Given the description of an element on the screen output the (x, y) to click on. 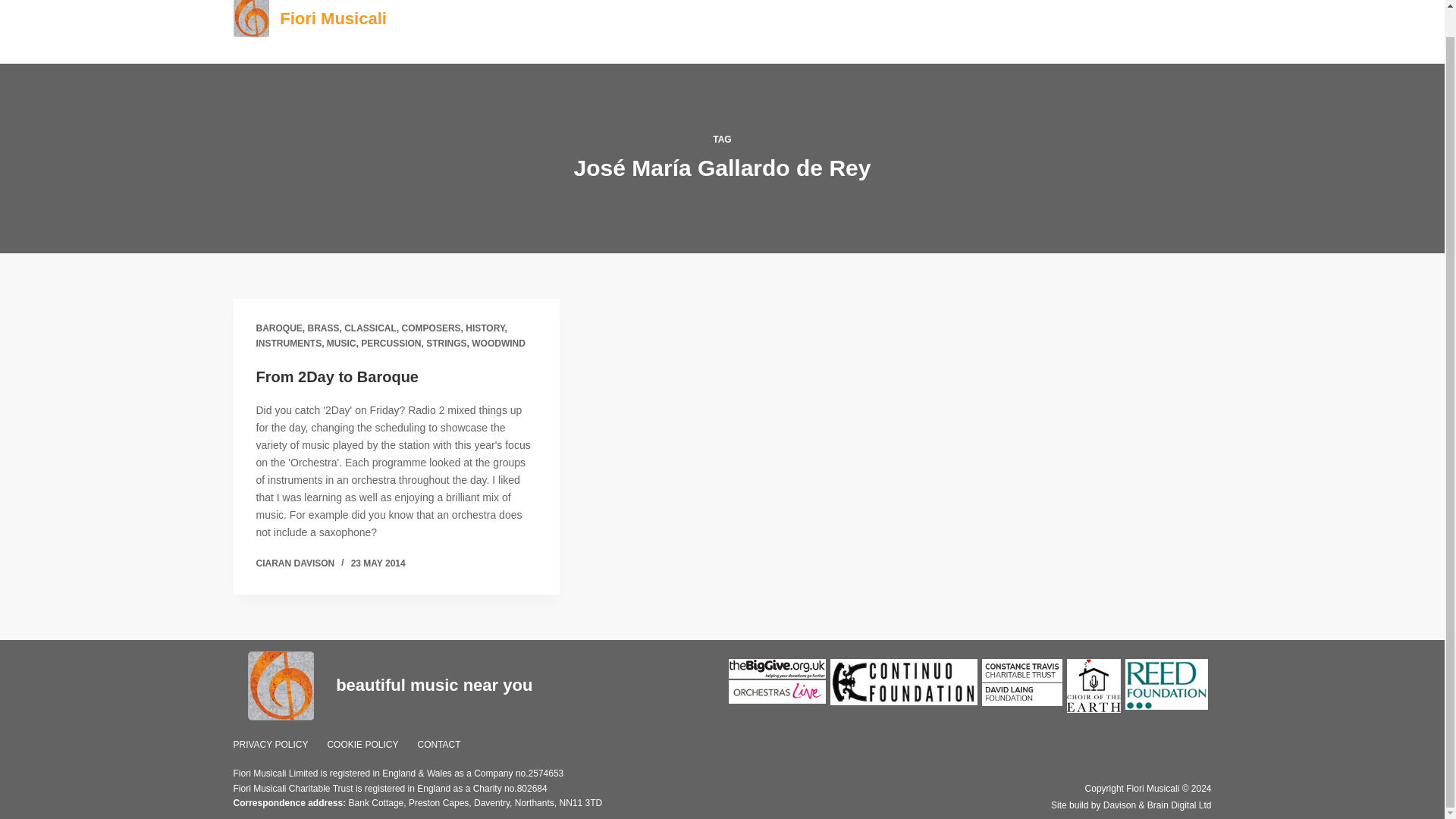
Posts by Ciaran Davison (295, 562)
ABOUT (874, 31)
Fiori Musicali (333, 18)
